Given the description of an element on the screen output the (x, y) to click on. 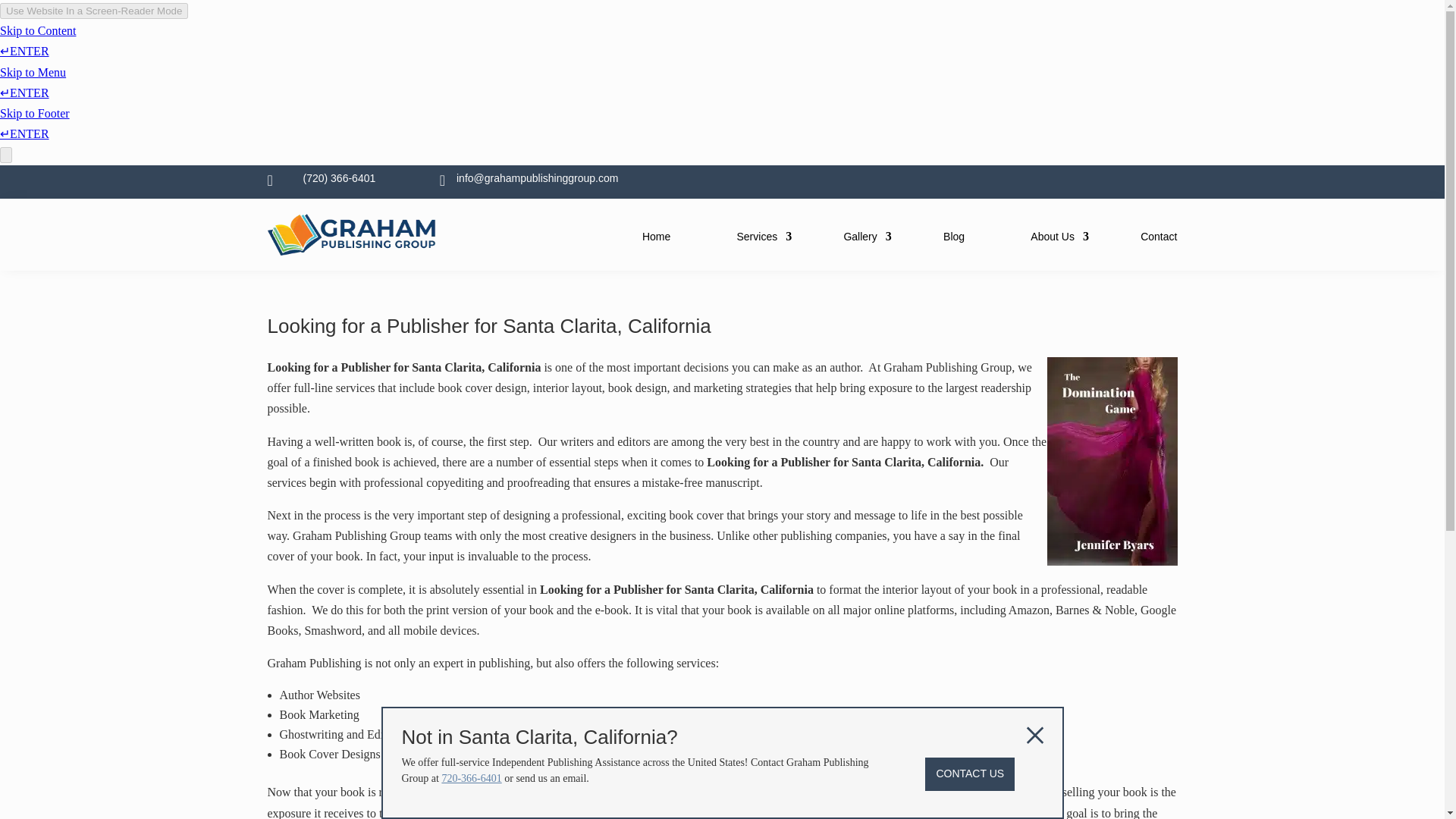
About Us (1052, 236)
Graham Publishing Group logo (352, 250)
Services (756, 236)
Gallery (859, 236)
Contact (1158, 236)
Home (655, 236)
